Given the description of an element on the screen output the (x, y) to click on. 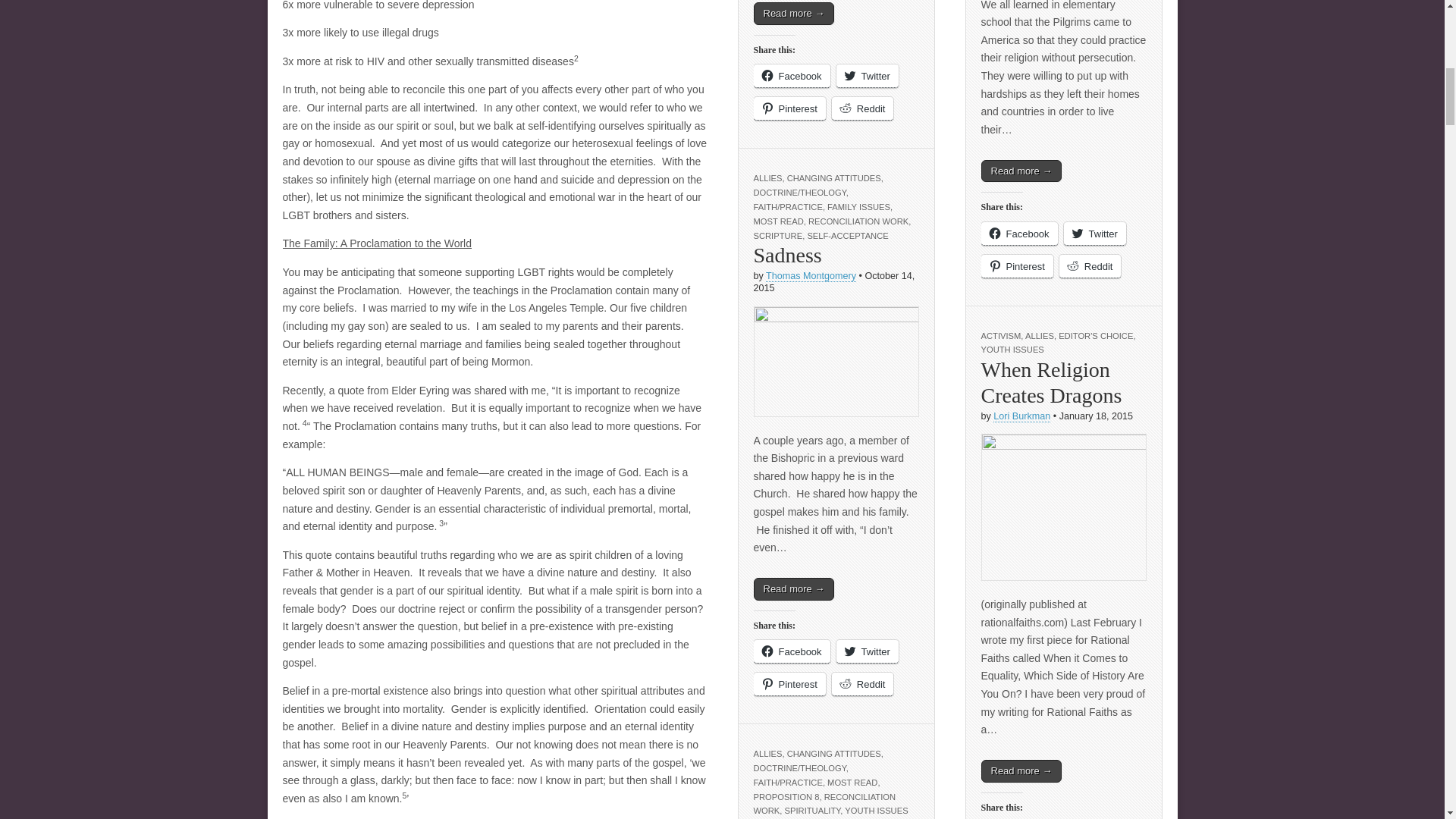
Click to share on Pinterest (789, 108)
Click to share on Twitter (866, 75)
Posts by Thomas Montgomery (810, 276)
Click to share on Reddit (862, 108)
Click to share on Facebook (791, 75)
Click to share on Facebook (791, 651)
